Given the description of an element on the screen output the (x, y) to click on. 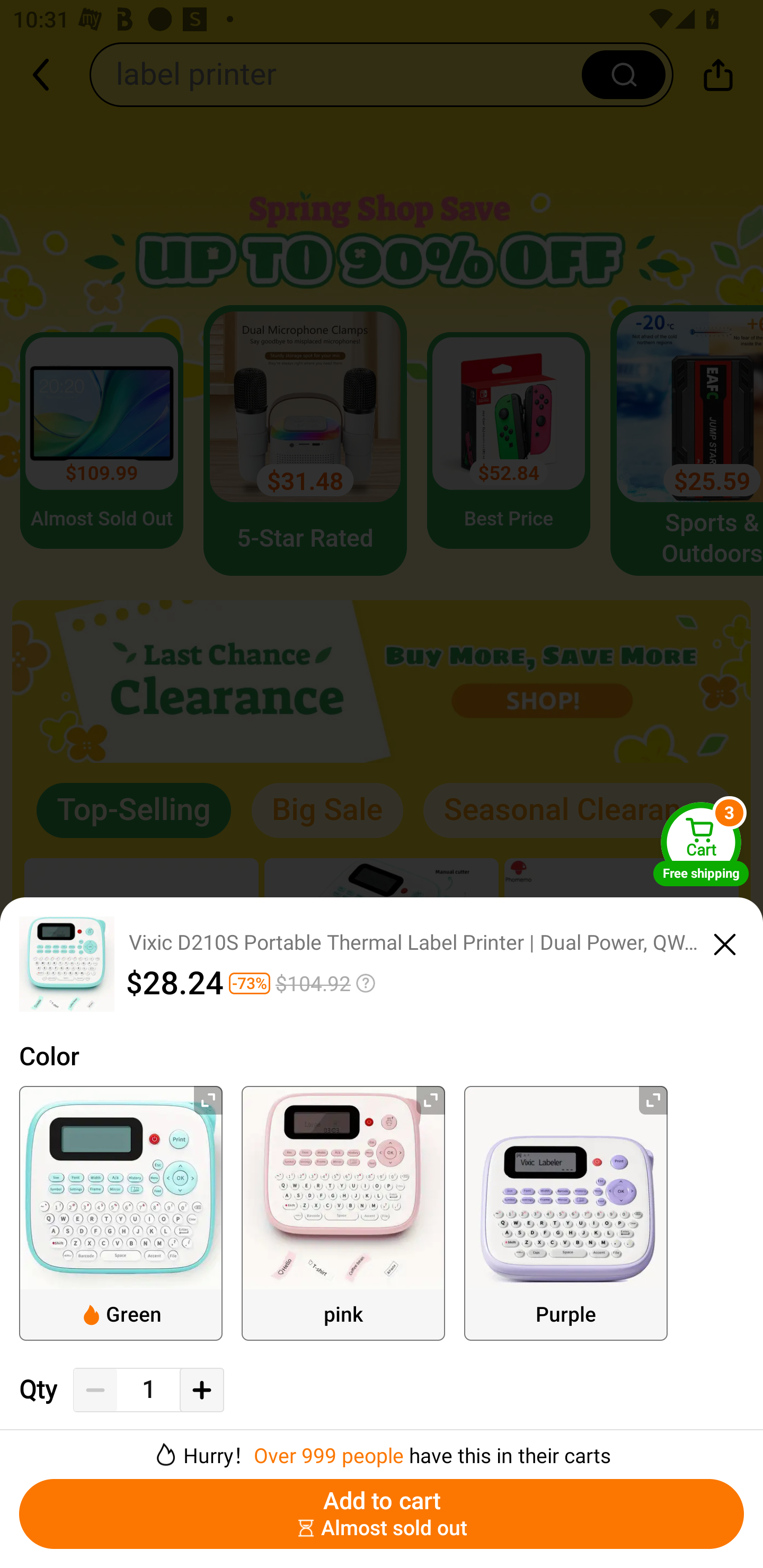
Cart Free shipping Cart (701, 844)
close (724, 941)
Green ￼Green (120, 1213)
pink (342, 1213)
Purple (565, 1213)
Decrease Quantity Button (95, 1389)
Add Quantity Button (201, 1389)
1 (148, 1389)
￼￼Hurry！Over 999 people have this in their carts (381, 1448)
Add to cart ￼￼Almost sold out (381, 1513)
